Given the description of an element on the screen output the (x, y) to click on. 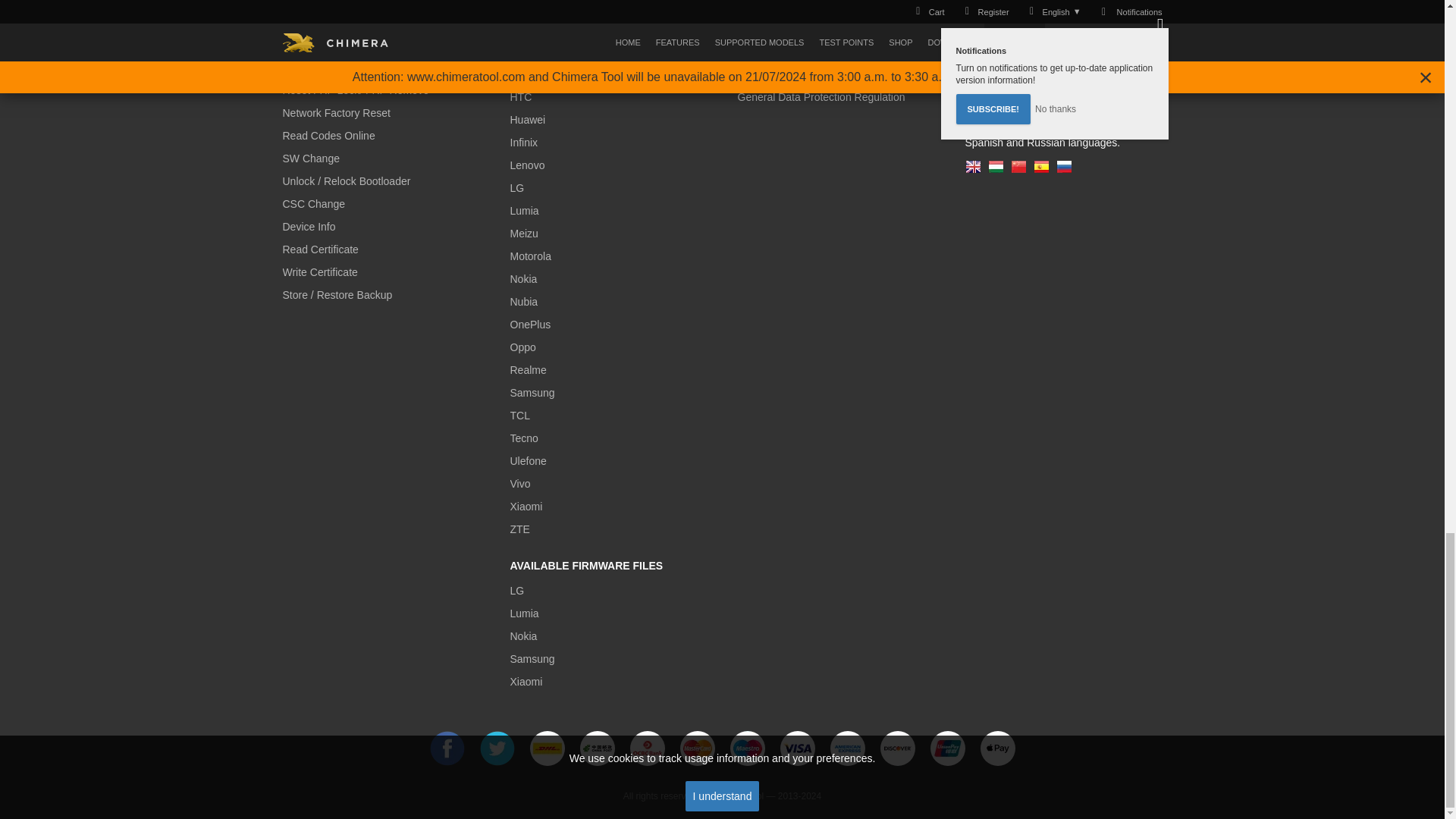
E-mail (1062, 1)
Telegram (1062, 38)
Phone (1062, 62)
Facebook (446, 748)
Skype (1062, 14)
Twitter (496, 748)
